Given the description of an element on the screen output the (x, y) to click on. 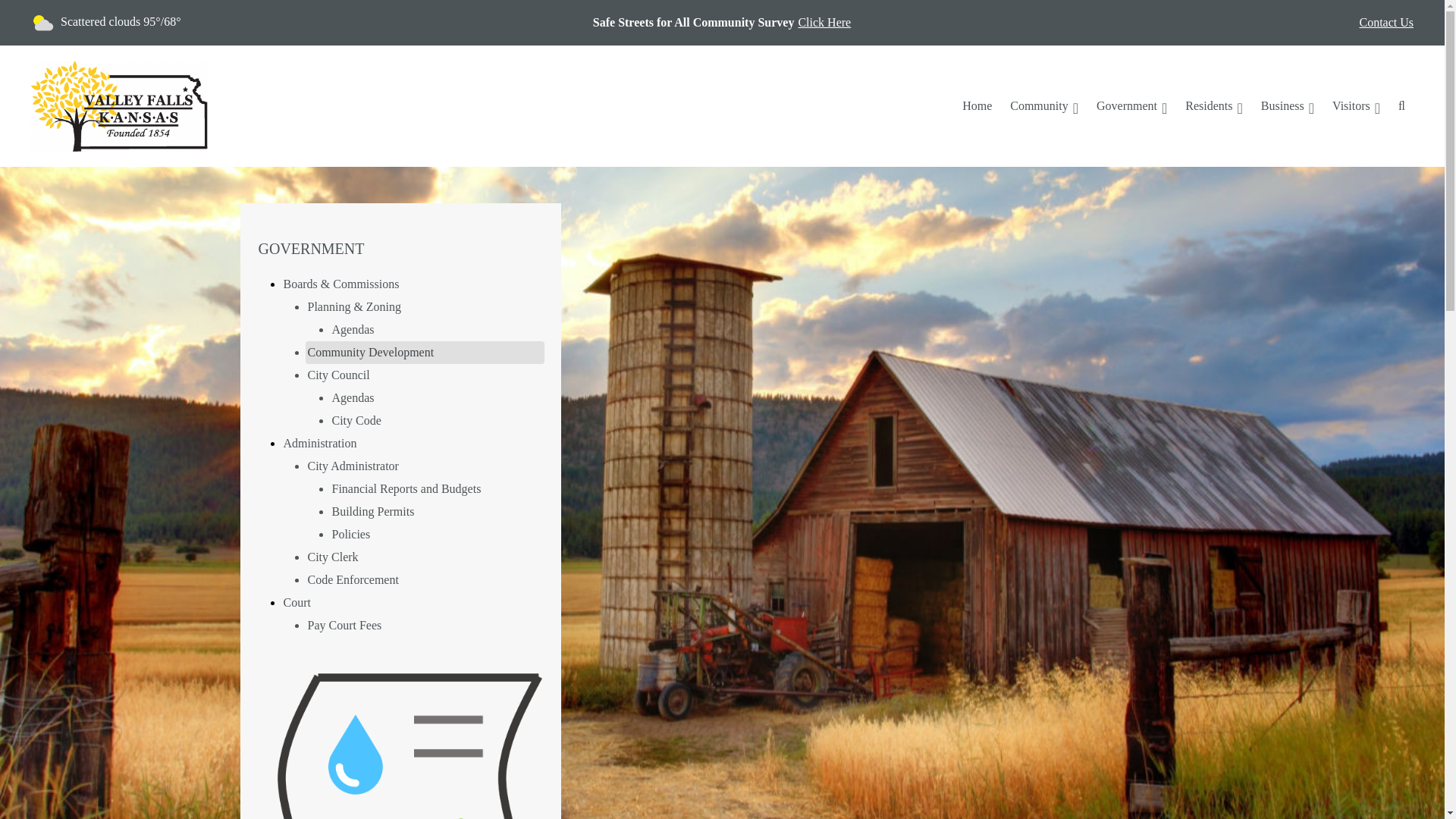
Government (1131, 105)
contains current page link (1131, 105)
Contact Us (1385, 22)
Click Here (823, 22)
Home (977, 105)
Community (1044, 105)
